Given the description of an element on the screen output the (x, y) to click on. 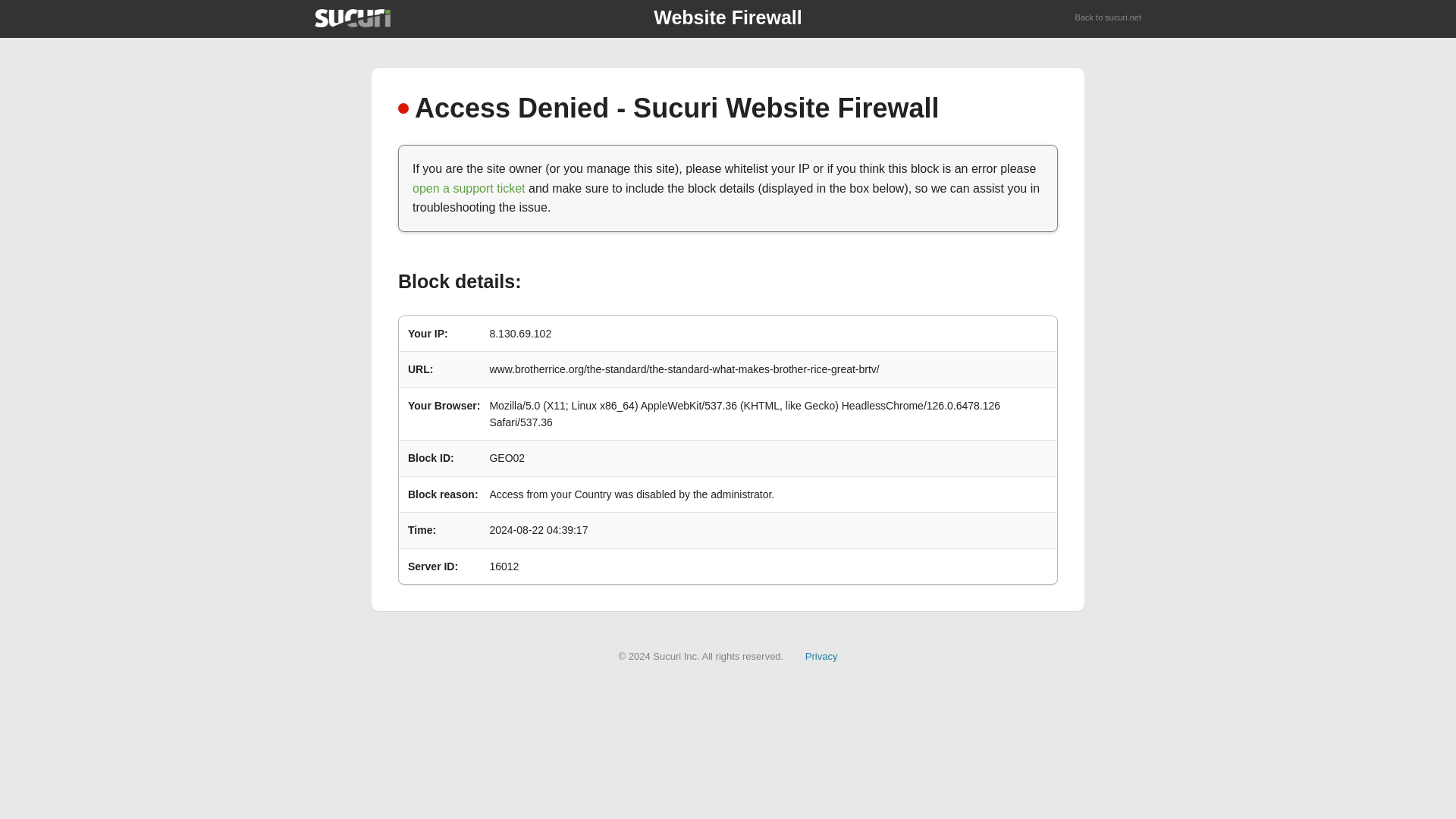
open a support ticket (468, 187)
Back to sucuri.net (1108, 18)
Privacy (821, 655)
